Given the description of an element on the screen output the (x, y) to click on. 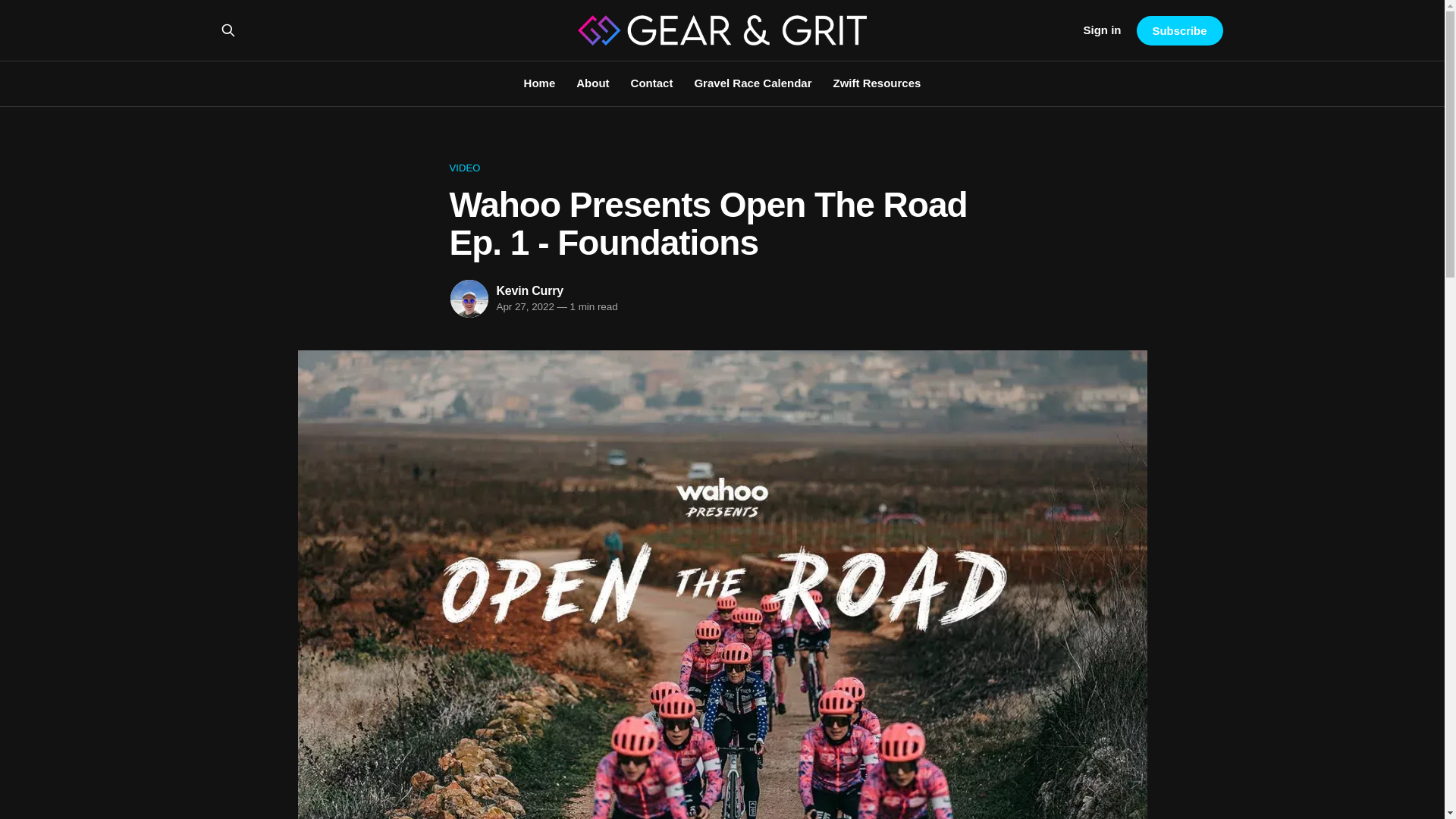
Gravel Race Calendar (752, 82)
Subscribe (1179, 30)
Contact (651, 82)
Home (540, 82)
Zwift Resources (876, 82)
Sign in (1102, 30)
Kevin Curry (529, 290)
VIDEO (721, 168)
About (592, 82)
